Given the description of an element on the screen output the (x, y) to click on. 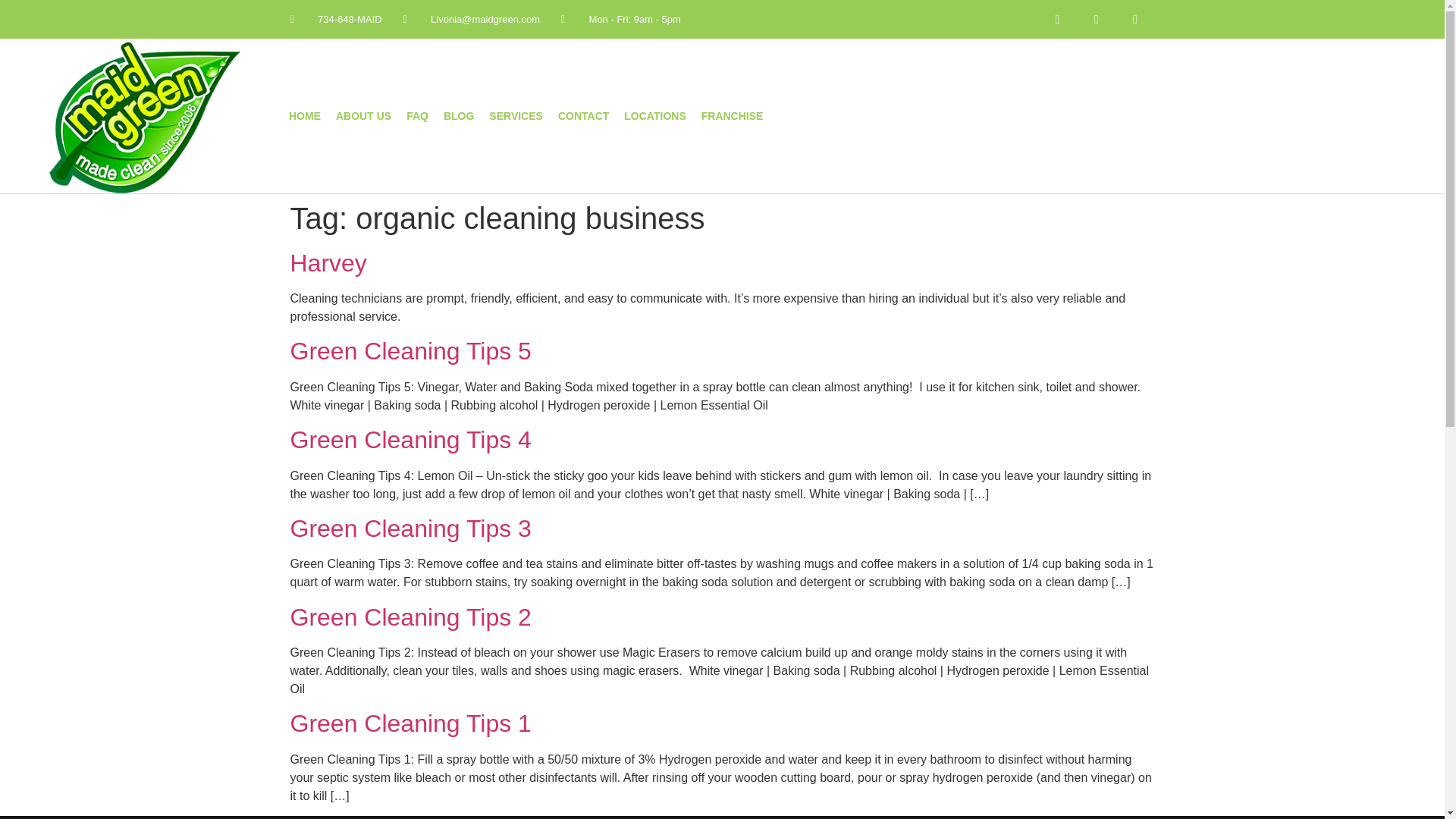
CONTACT (582, 115)
FRANCHISE (731, 115)
LOCATIONS (654, 115)
734-648-MAID (335, 19)
SERVICES (516, 115)
ABOUT US (363, 115)
